Given the description of an element on the screen output the (x, y) to click on. 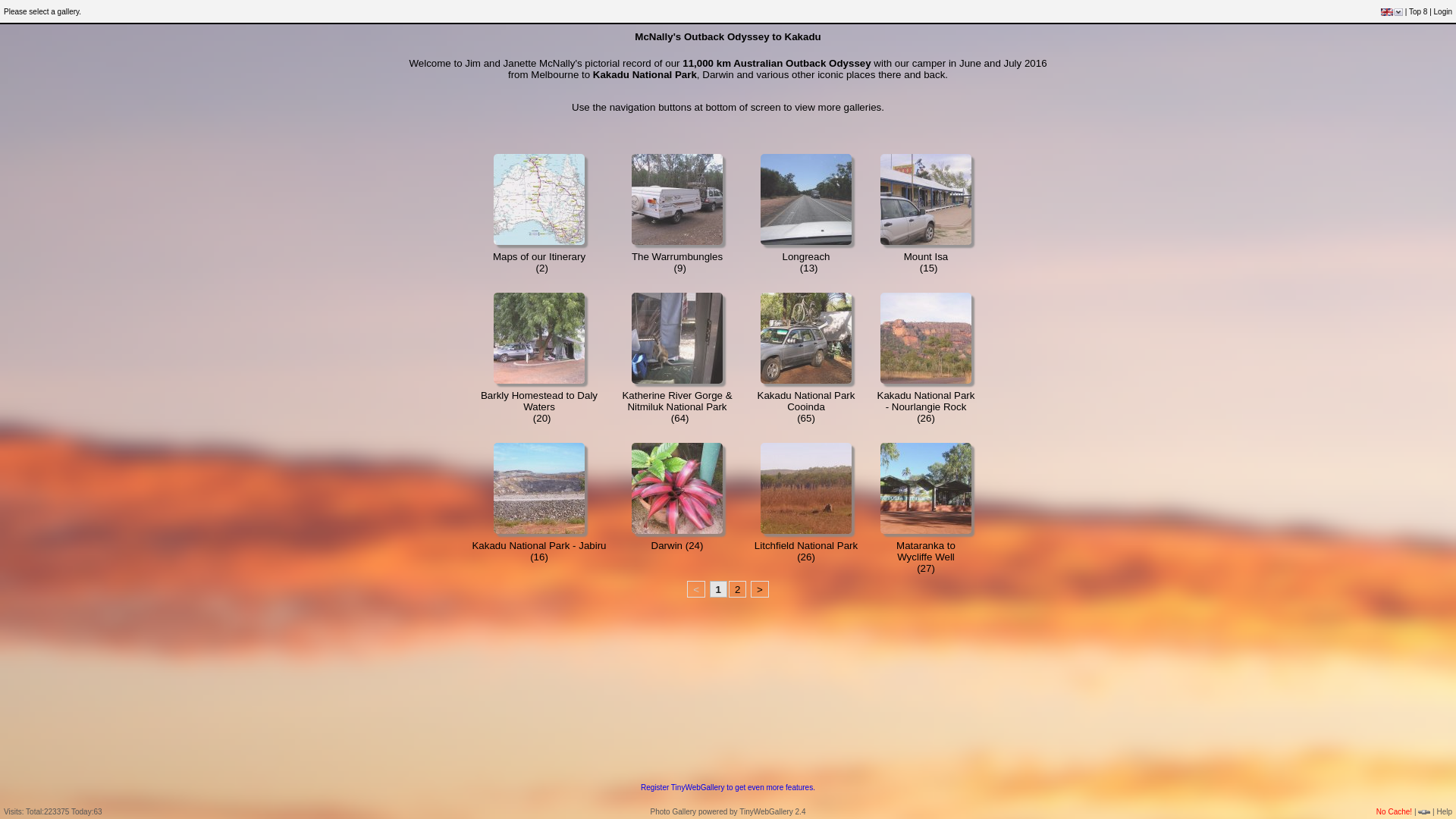
1 Element type: text (718, 588)
Login Element type: text (1443, 11)
Help Element type: text (1444, 811)
Kakadu National Park - Jabiru (16) Element type: text (538, 550)
> Element type: text (759, 588)
Maps of our Itinerary
  (2) Element type: text (538, 262)
Photo Gallery powered by TinyWebGallery 2.4 Element type: text (728, 811)
Mount Isa
  (15) Element type: text (925, 262)
The Warrumbungles
  (9) Element type: text (676, 262)
Katherine River Gorge & Nitmiluk National Park
  (64) Element type: text (676, 406)
Longreach
  (13) Element type: text (806, 262)
Darwin (24) Element type: text (677, 545)
Kakadu National Park
Cooinda
(65) Element type: text (806, 406)
Mataranka to
Wycliffe Well
(27) Element type: text (925, 556)
Barkly Homestead to Daly Waters
  (20) Element type: text (538, 406)
No Cache! Element type: text (1394, 811)
English Element type: hover (1386, 11)
Kakadu National Park
- Nourlangie Rock
(26) Element type: text (926, 406)
Litchfield National Park
(26) Element type: text (805, 550)
2 Element type: text (737, 588)
Top 8 Element type: text (1417, 11)
